Given the description of an element on the screen output the (x, y) to click on. 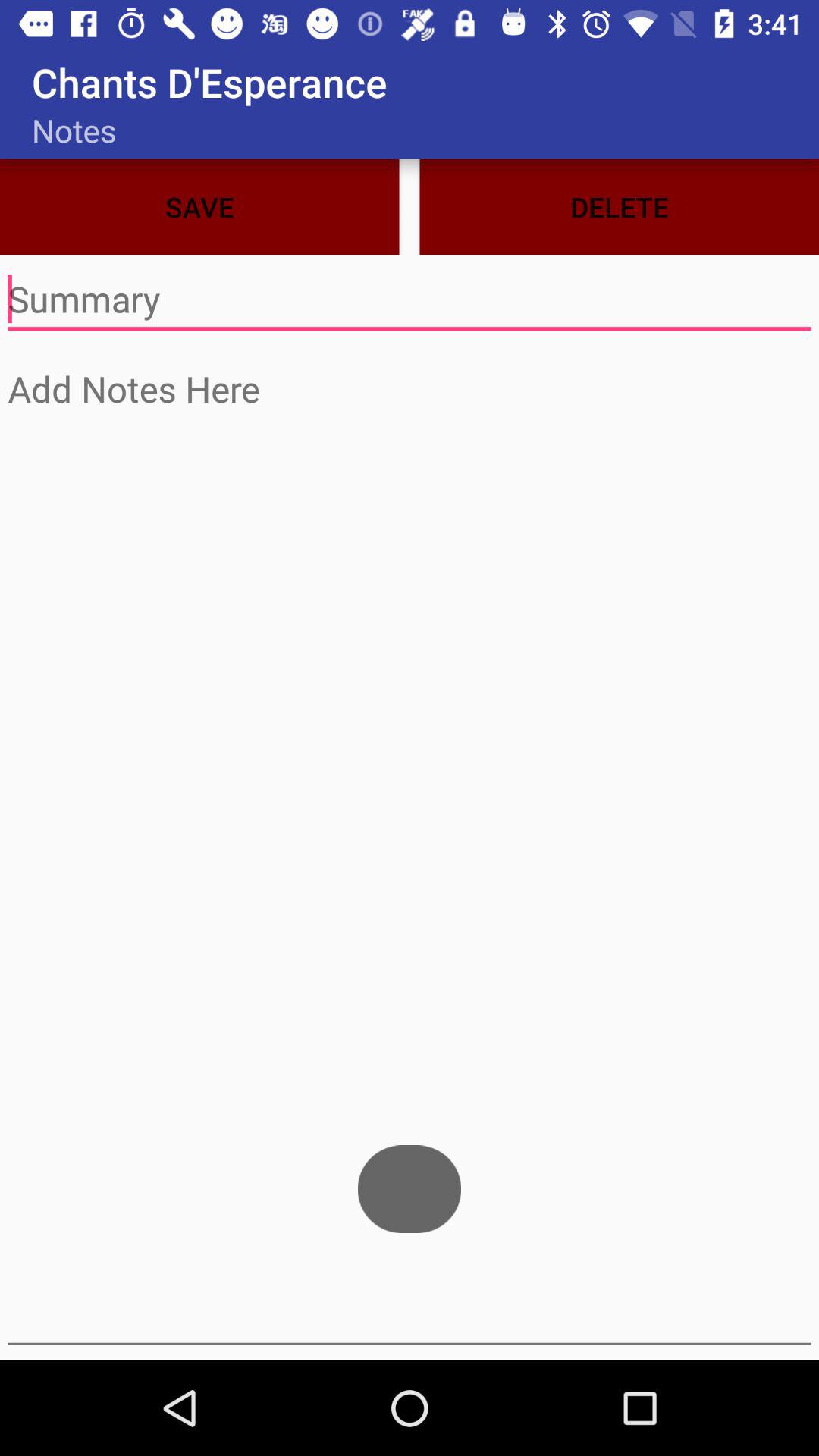
save (409, 299)
